Given the description of an element on the screen output the (x, y) to click on. 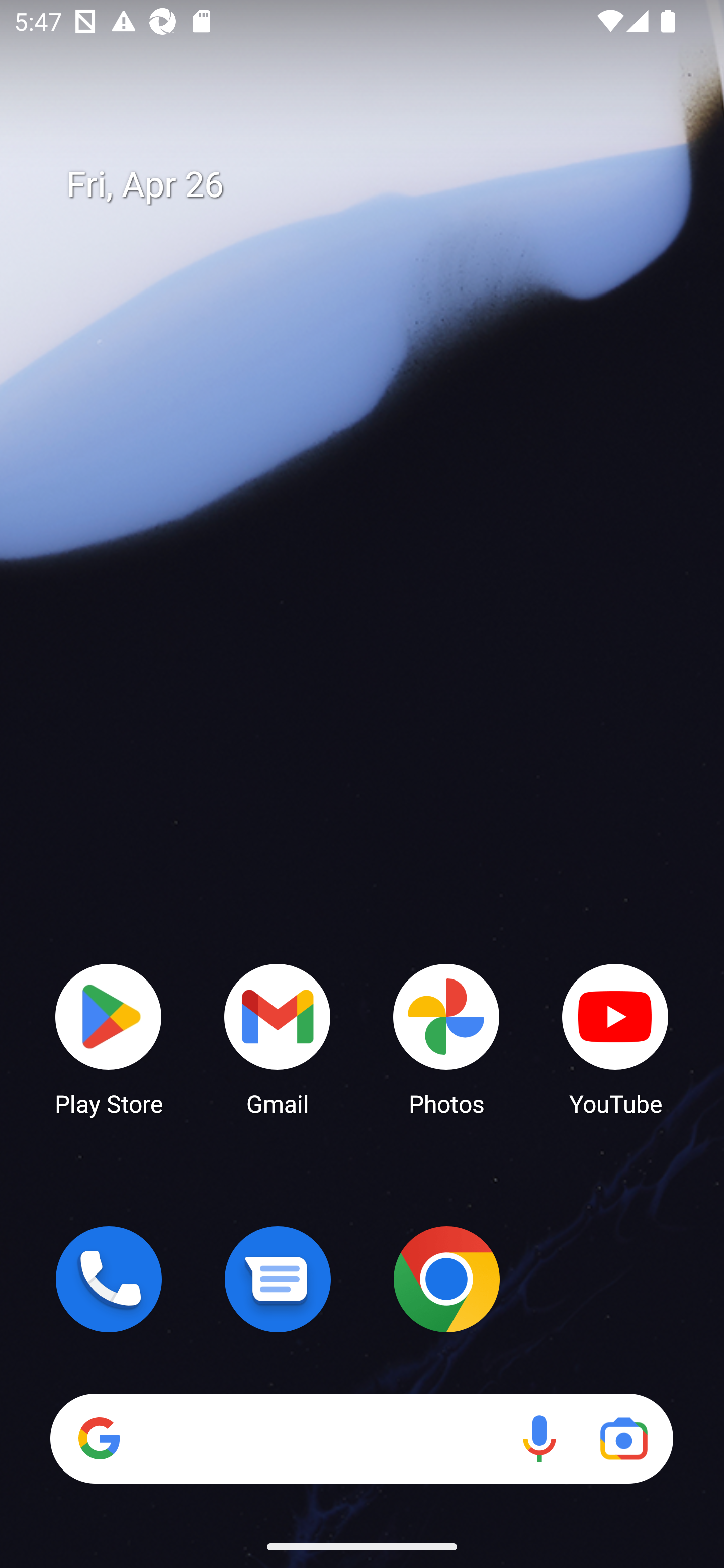
Fri, Apr 26 (375, 184)
Play Store (108, 1038)
Gmail (277, 1038)
Photos (445, 1038)
YouTube (615, 1038)
Phone (108, 1279)
Messages (277, 1279)
Chrome (446, 1279)
Search Voice search Google Lens (361, 1438)
Voice search (539, 1438)
Google Lens (623, 1438)
